Given the description of an element on the screen output the (x, y) to click on. 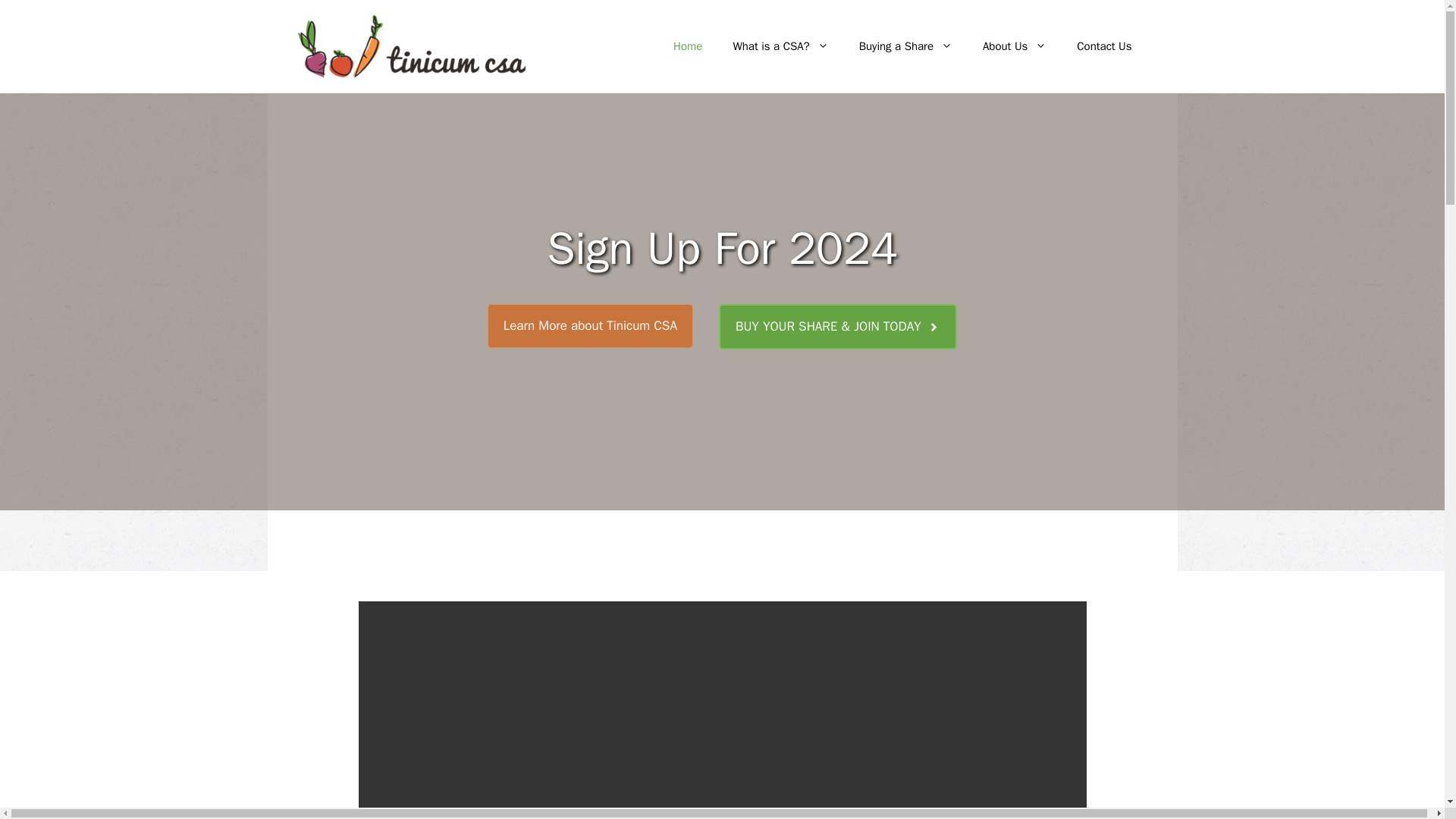
What is a CSA? (780, 45)
Contact Us (1104, 45)
Buying a Share (906, 45)
Home (687, 45)
Learn More about Tinicum CSA (590, 325)
About Us (1014, 45)
